Given the description of an element on the screen output the (x, y) to click on. 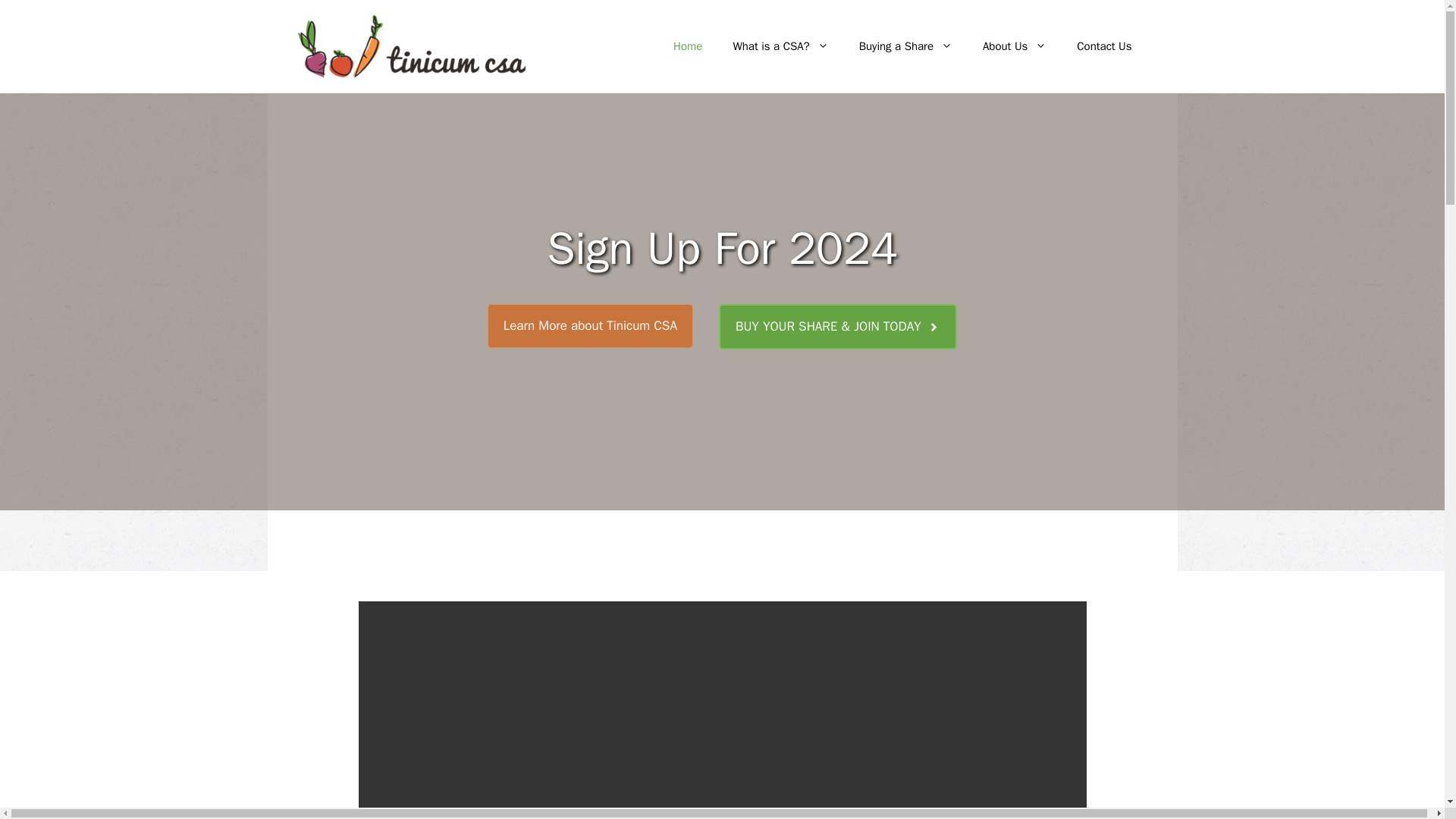
What is a CSA? (780, 45)
Contact Us (1104, 45)
Buying a Share (906, 45)
Home (687, 45)
Learn More about Tinicum CSA (590, 325)
About Us (1014, 45)
